Given the description of an element on the screen output the (x, y) to click on. 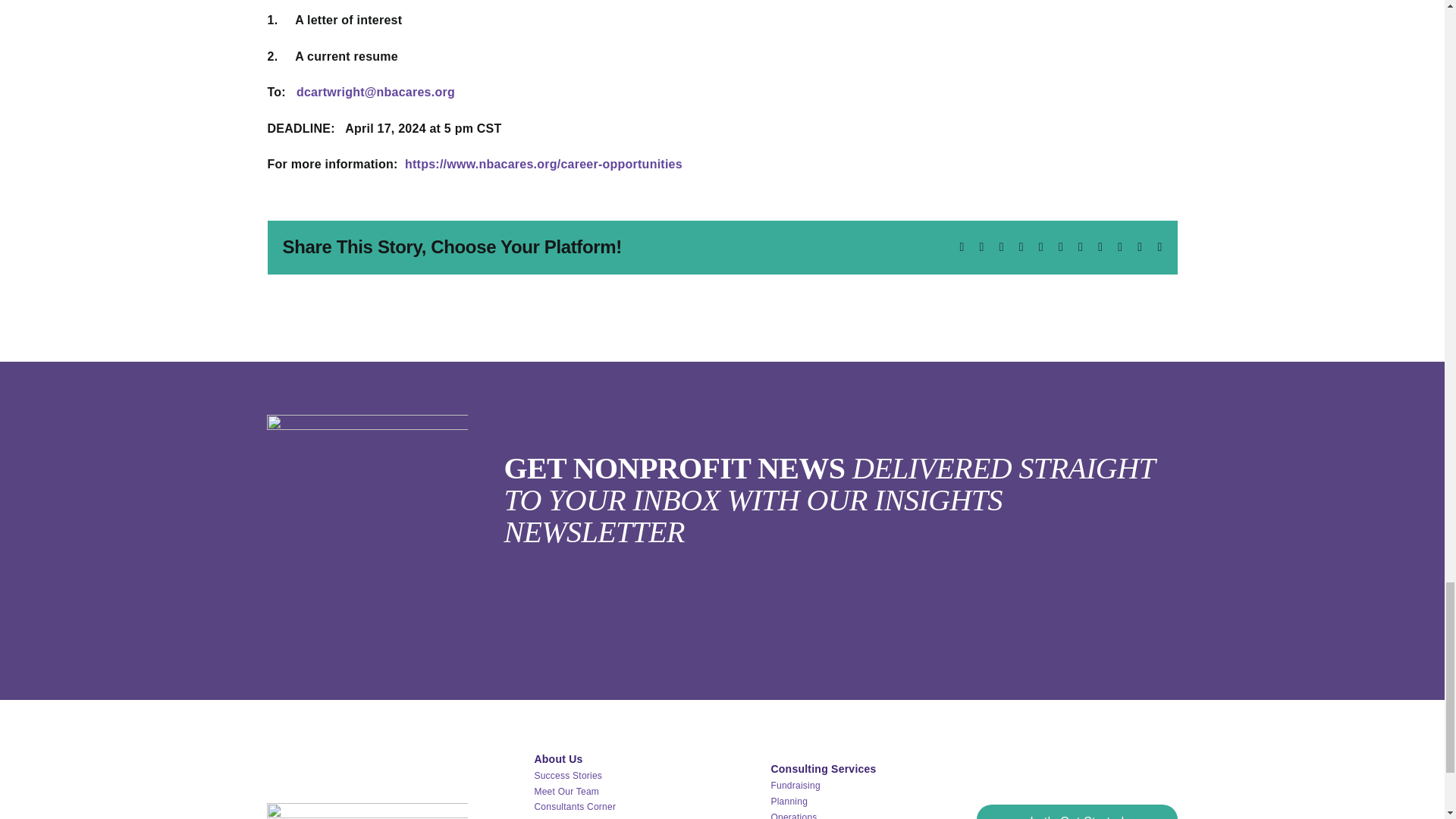
Meet Our Team (566, 791)
About Us (558, 758)
Consultants Corner (574, 806)
Contact Us (557, 818)
Success Stories (568, 775)
mainlogo (366, 811)
